Given the description of an element on the screen output the (x, y) to click on. 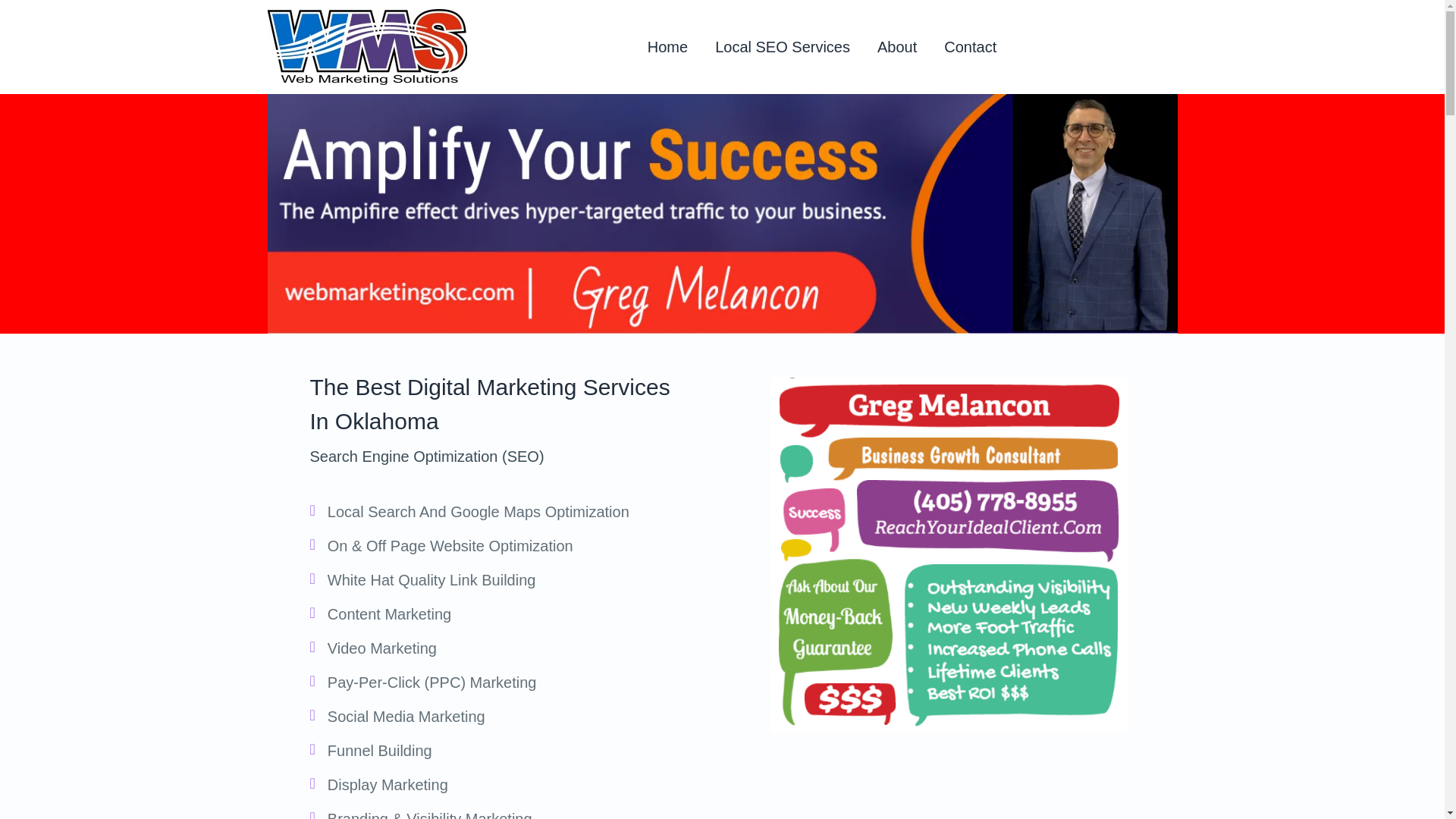
Contact (969, 46)
About (897, 46)
Home (667, 46)
Local SEO Services (782, 46)
